Given the description of an element on the screen output the (x, y) to click on. 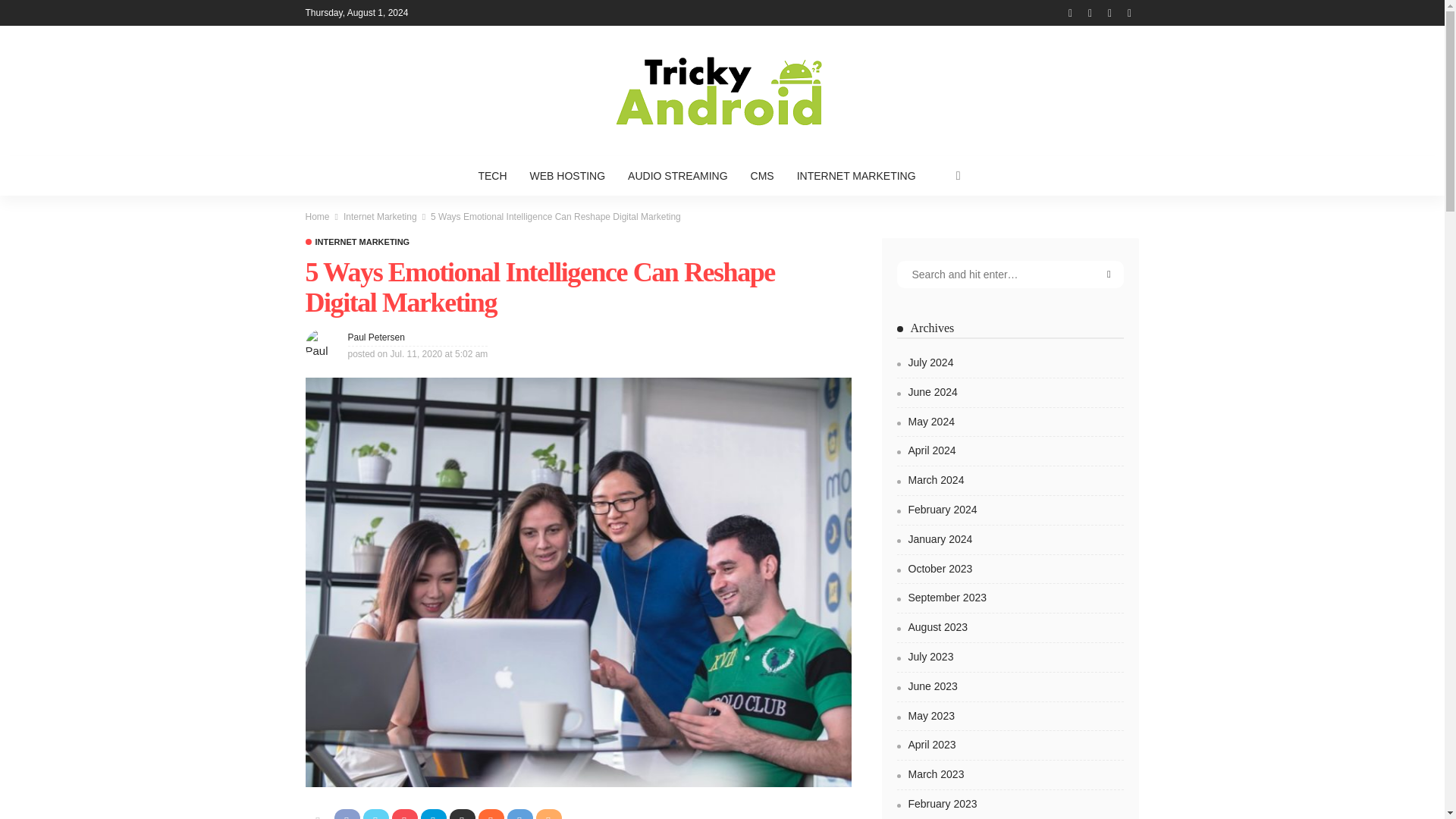
Internet Marketing (356, 242)
Tricky Android (721, 90)
Home (316, 216)
search (958, 175)
